Given the description of an element on the screen output the (x, y) to click on. 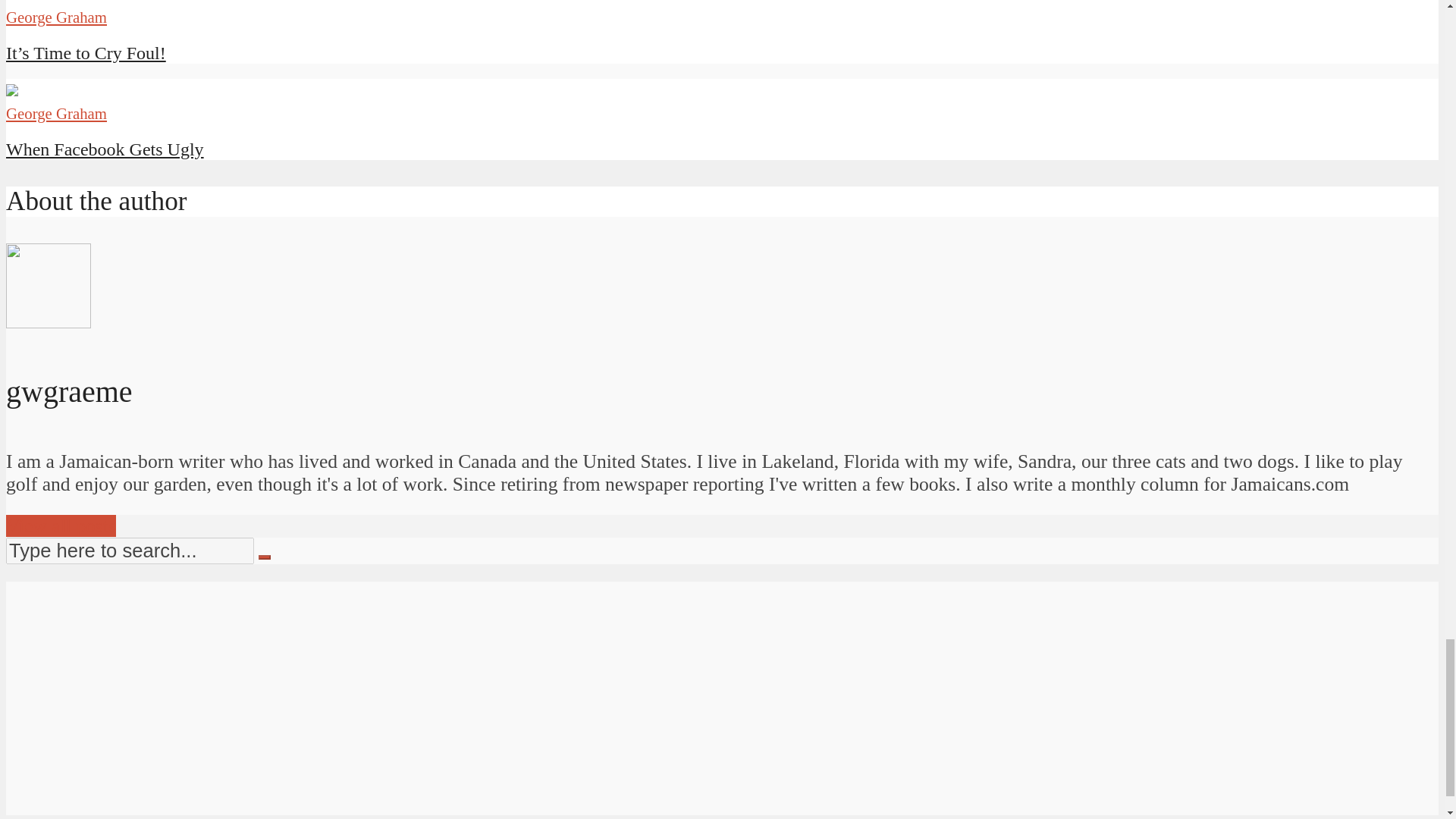
When Facebook Gets Ugly (104, 148)
Type here to search... (129, 550)
Type here to search... (129, 550)
